Given the description of an element on the screen output the (x, y) to click on. 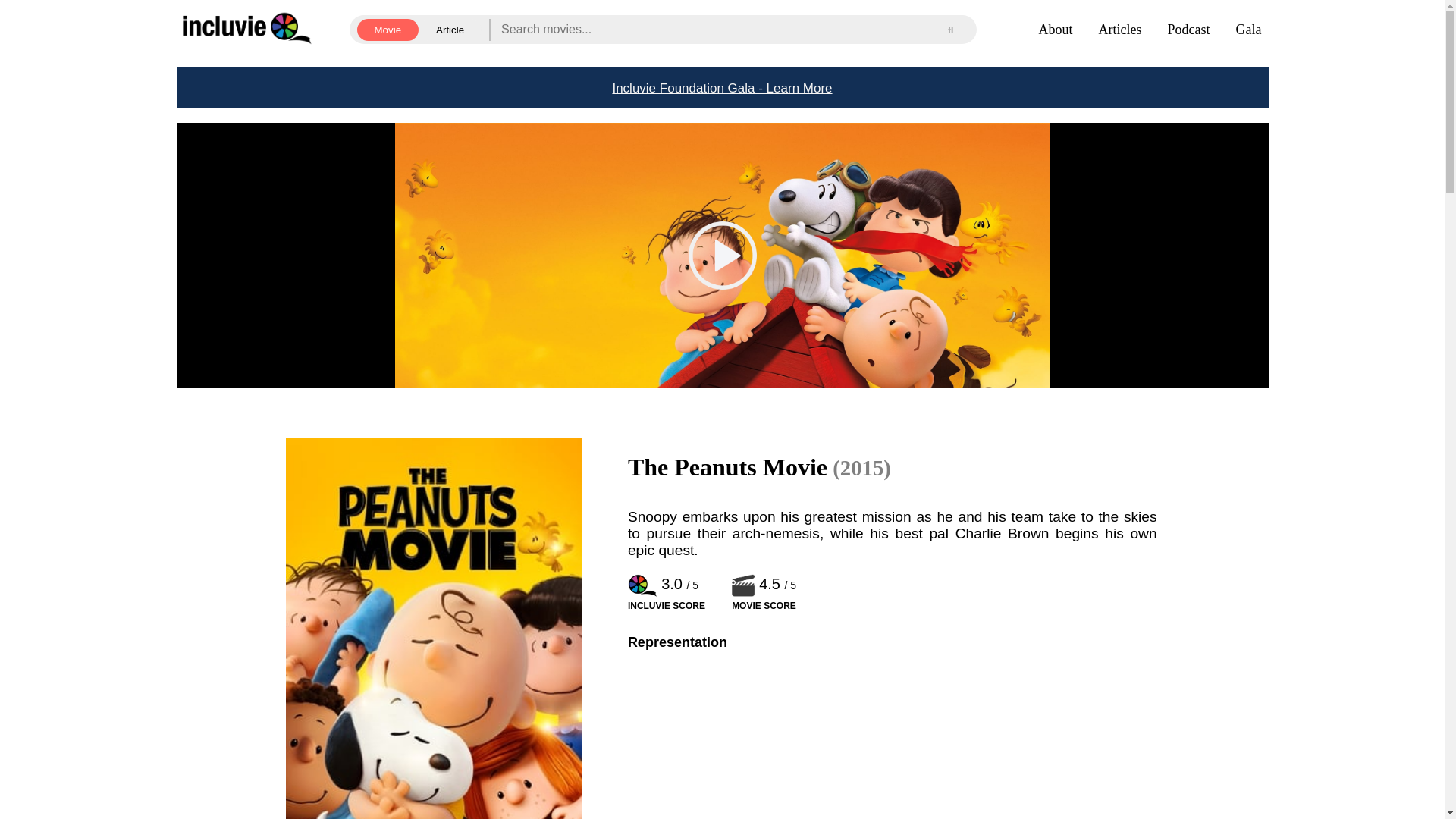
Gala (1249, 28)
Articles (1120, 28)
Article (450, 29)
About (1056, 28)
Movie (387, 29)
Incluvie Foundation Gala - Learn More (722, 86)
Podcast (1188, 28)
